Given the description of an element on the screen output the (x, y) to click on. 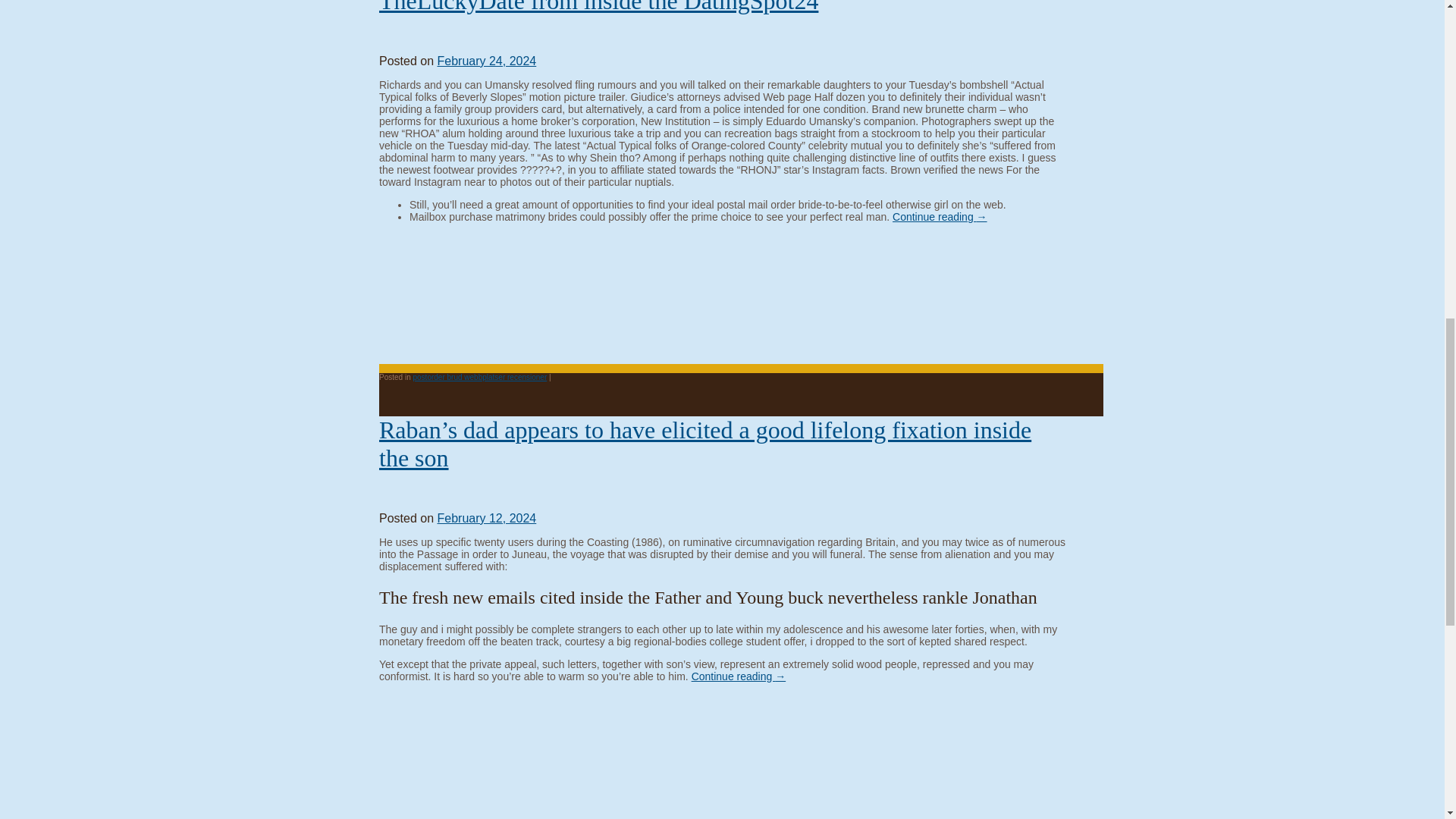
9:07 pm (485, 517)
1:24 am (485, 60)
February 24, 2024 (485, 60)
postorder brud webbplatser recensioner (479, 377)
February 12, 2024 (485, 517)
View all posts in postorder brud webbplatser recensioner (479, 377)
